Given the description of an element on the screen output the (x, y) to click on. 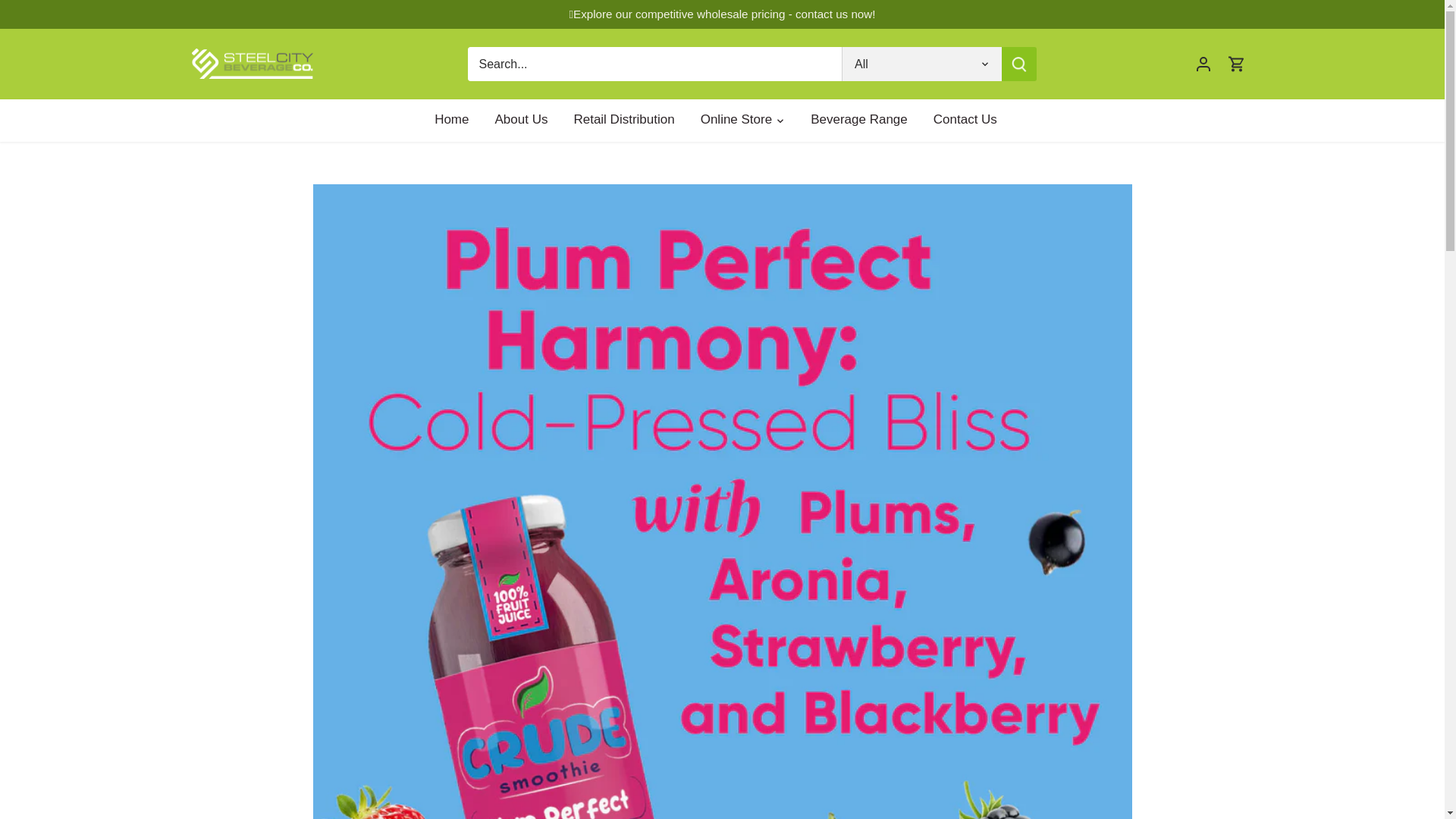
Home (457, 120)
About Us (520, 120)
Online Store (736, 120)
Retail Distribution (623, 120)
